Given the description of an element on the screen output the (x, y) to click on. 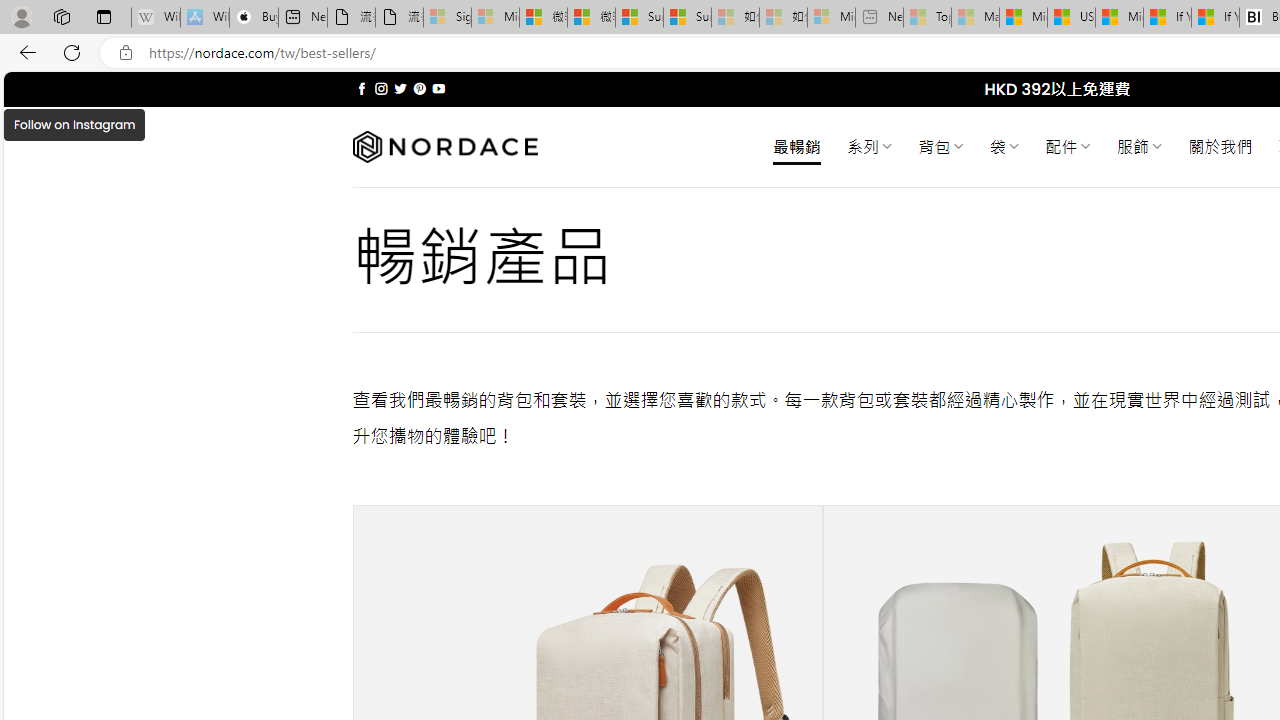
Top Stories - MSN - Sleeping (927, 17)
